Given the description of an element on the screen output the (x, y) to click on. 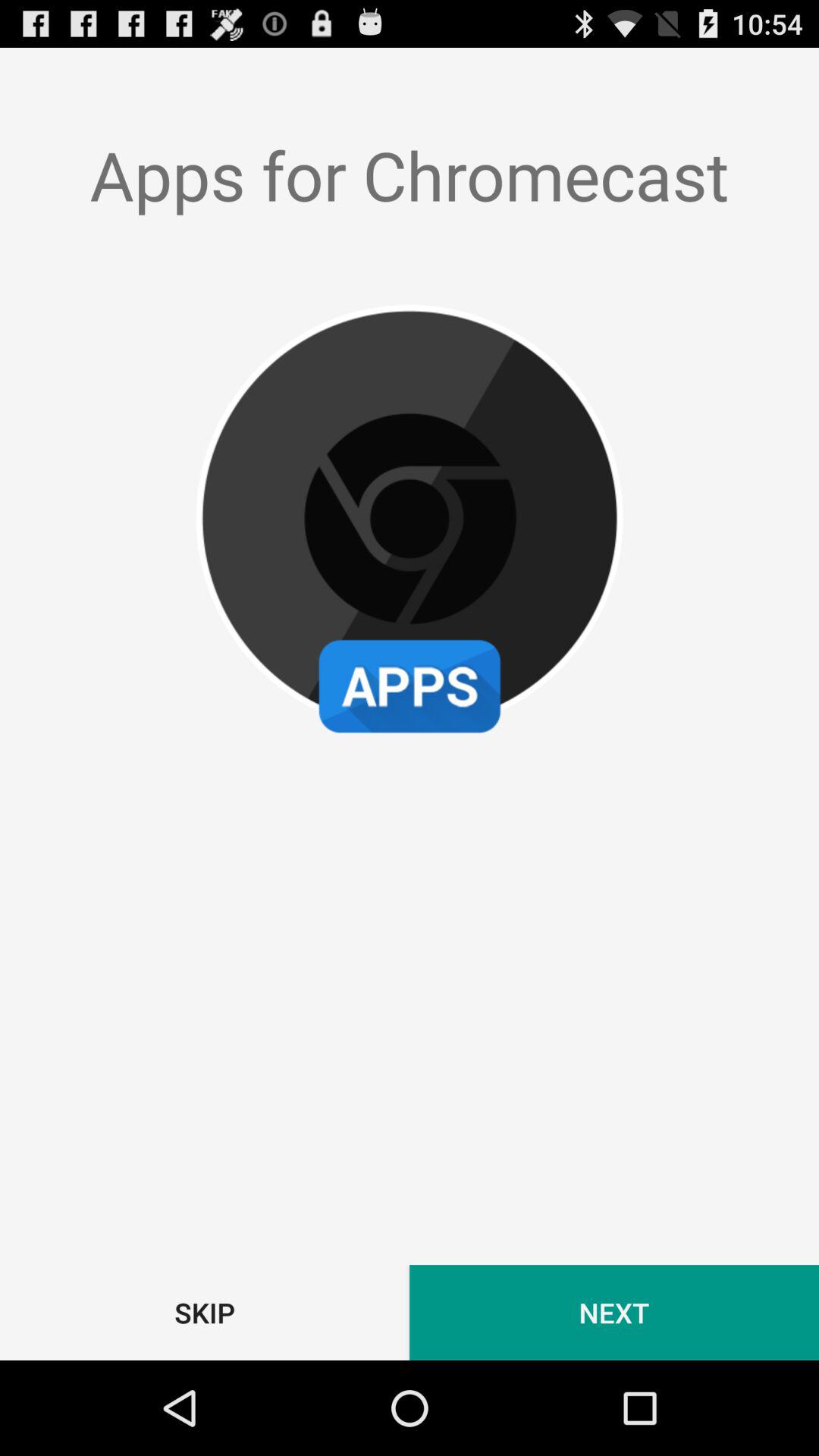
launch icon to the right of skip item (614, 1312)
